Given the description of an element on the screen output the (x, y) to click on. 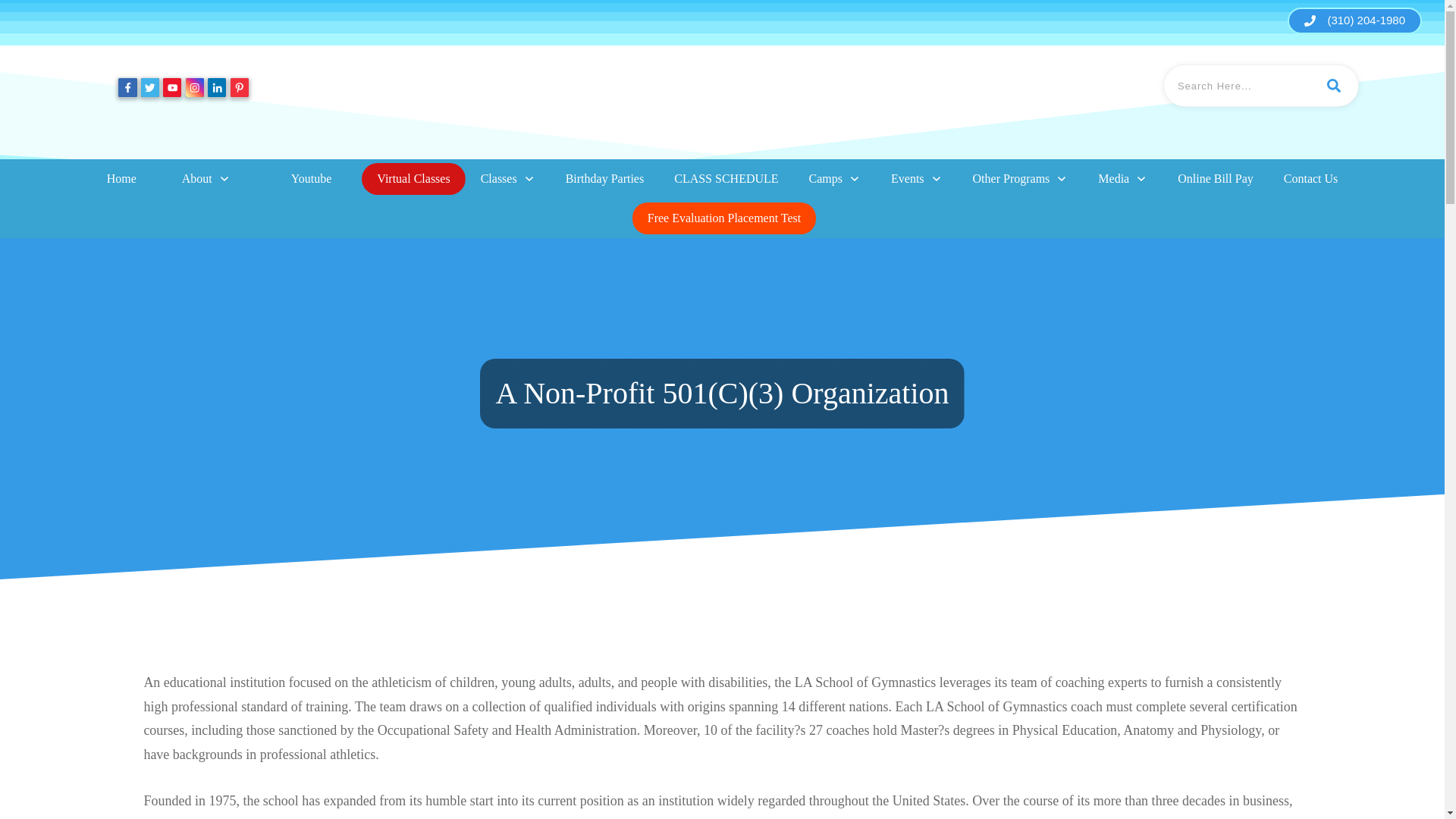
Home (121, 178)
Classes (507, 178)
About (206, 178)
Virtual Classes (413, 178)
Youtube (311, 178)
